Given the description of an element on the screen output the (x, y) to click on. 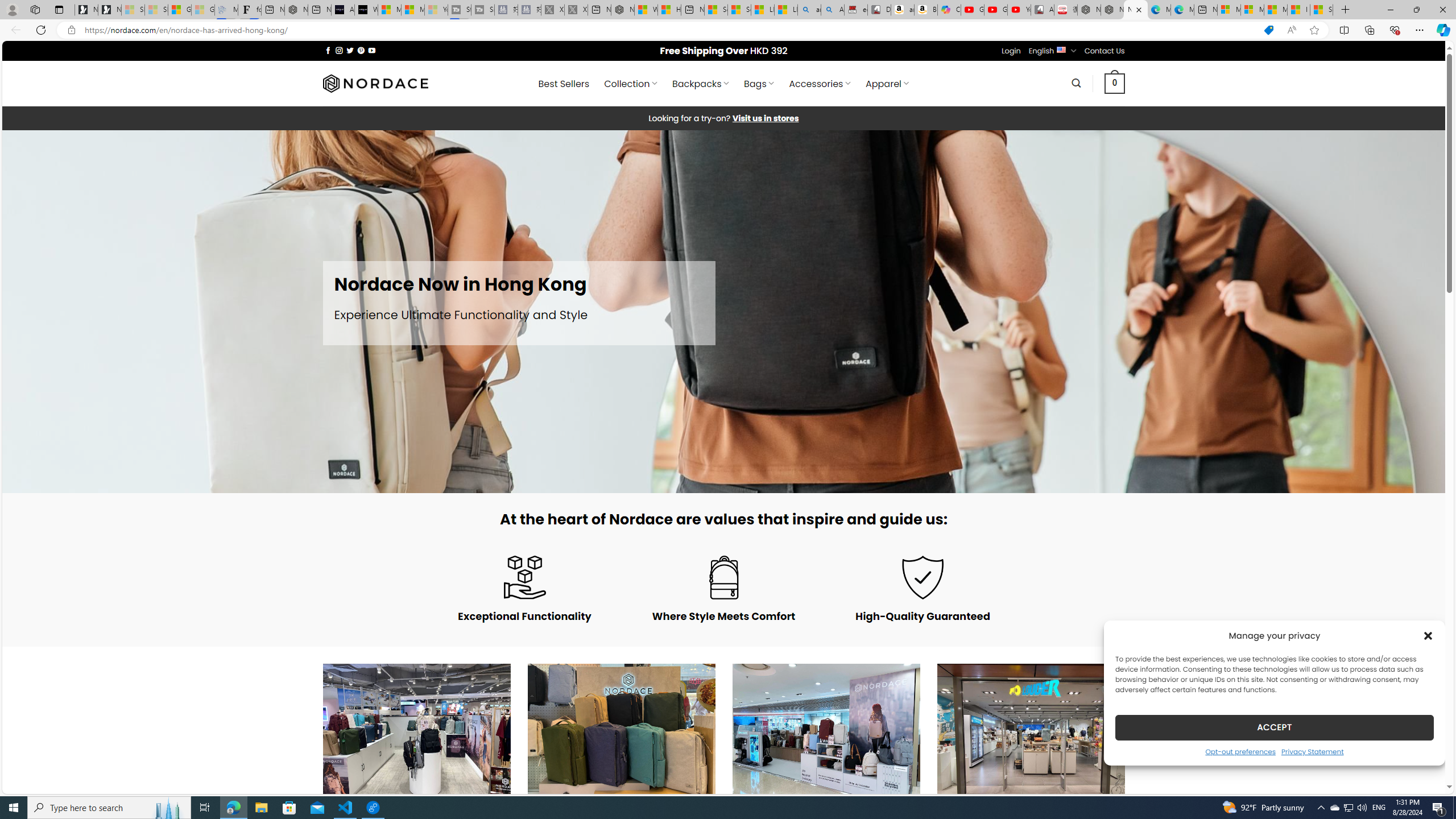
Class: cmplz-close (1428, 635)
Visit us in stores (765, 118)
Follow on Facebook (327, 49)
Nordace - #1 Japanese Best-Seller - Siena Smart Backpack (296, 9)
Newsletter Sign Up (109, 9)
Gloom - YouTube (995, 9)
Login (1010, 50)
Nordace Comino Totepack (1089, 9)
Privacy Statement (1312, 750)
This site has coupons! Shopping in Microsoft Edge (1268, 29)
